Given the description of an element on the screen output the (x, y) to click on. 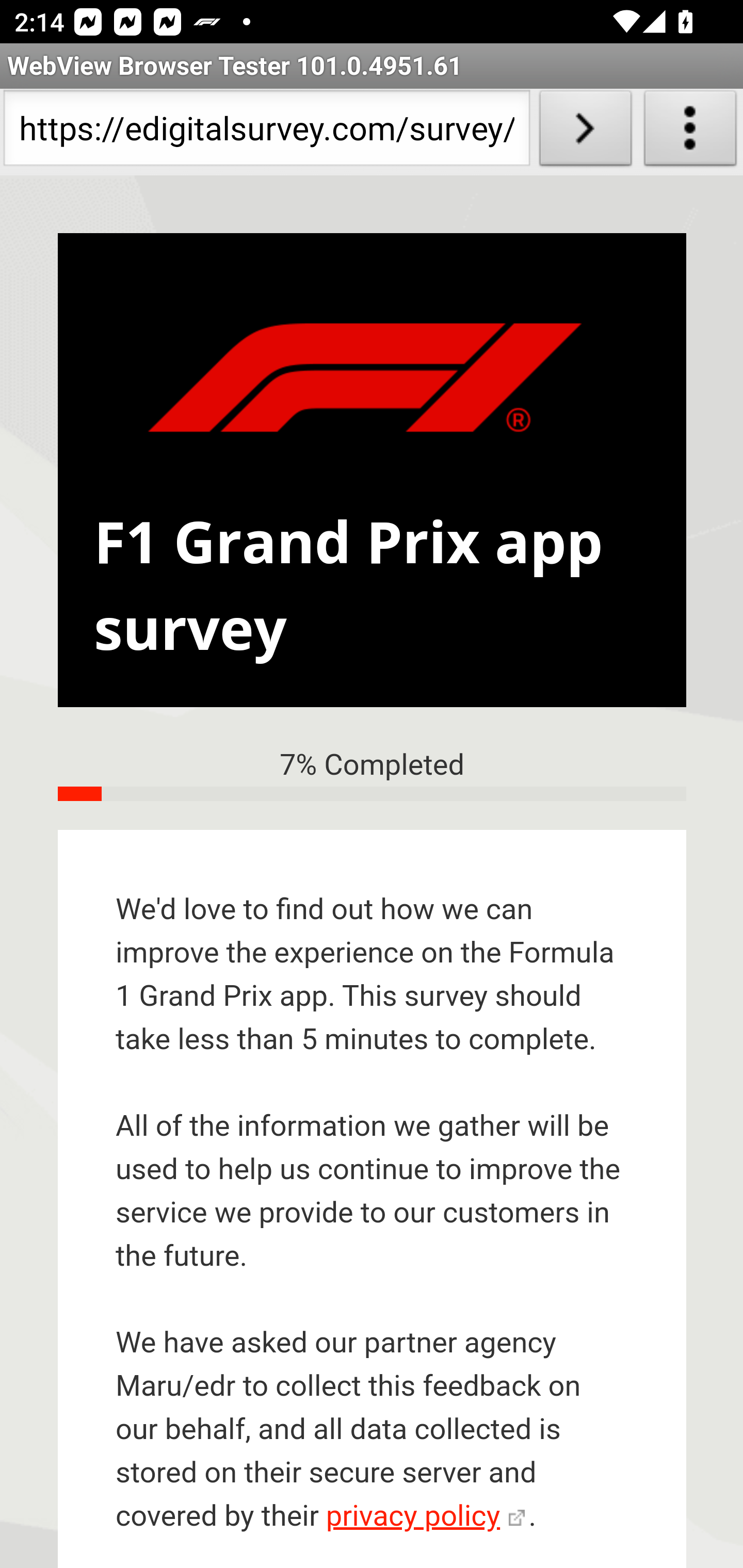
Load URL (585, 132)
About WebView (690, 132)
privacy policy  privacy policy    (425, 1517)
